Given the description of an element on the screen output the (x, y) to click on. 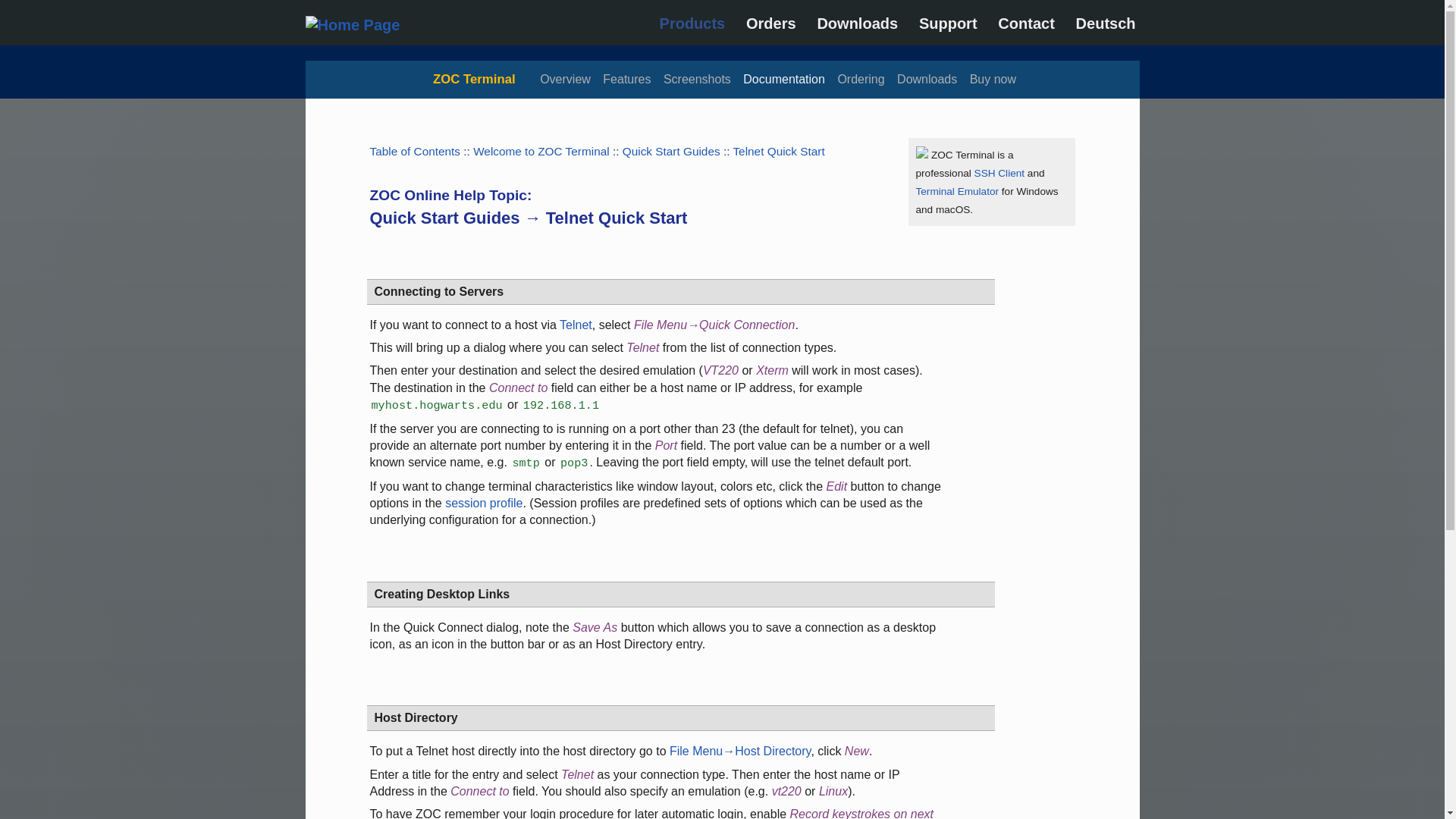
Support (947, 23)
Overview (565, 78)
Contact EmTec (1025, 23)
SSH Client: ZOC Terminal (999, 173)
ZOC SSH Client Screenshots (696, 78)
Contact (1025, 23)
Quick Start Guides (671, 151)
